Given the description of an element on the screen output the (x, y) to click on. 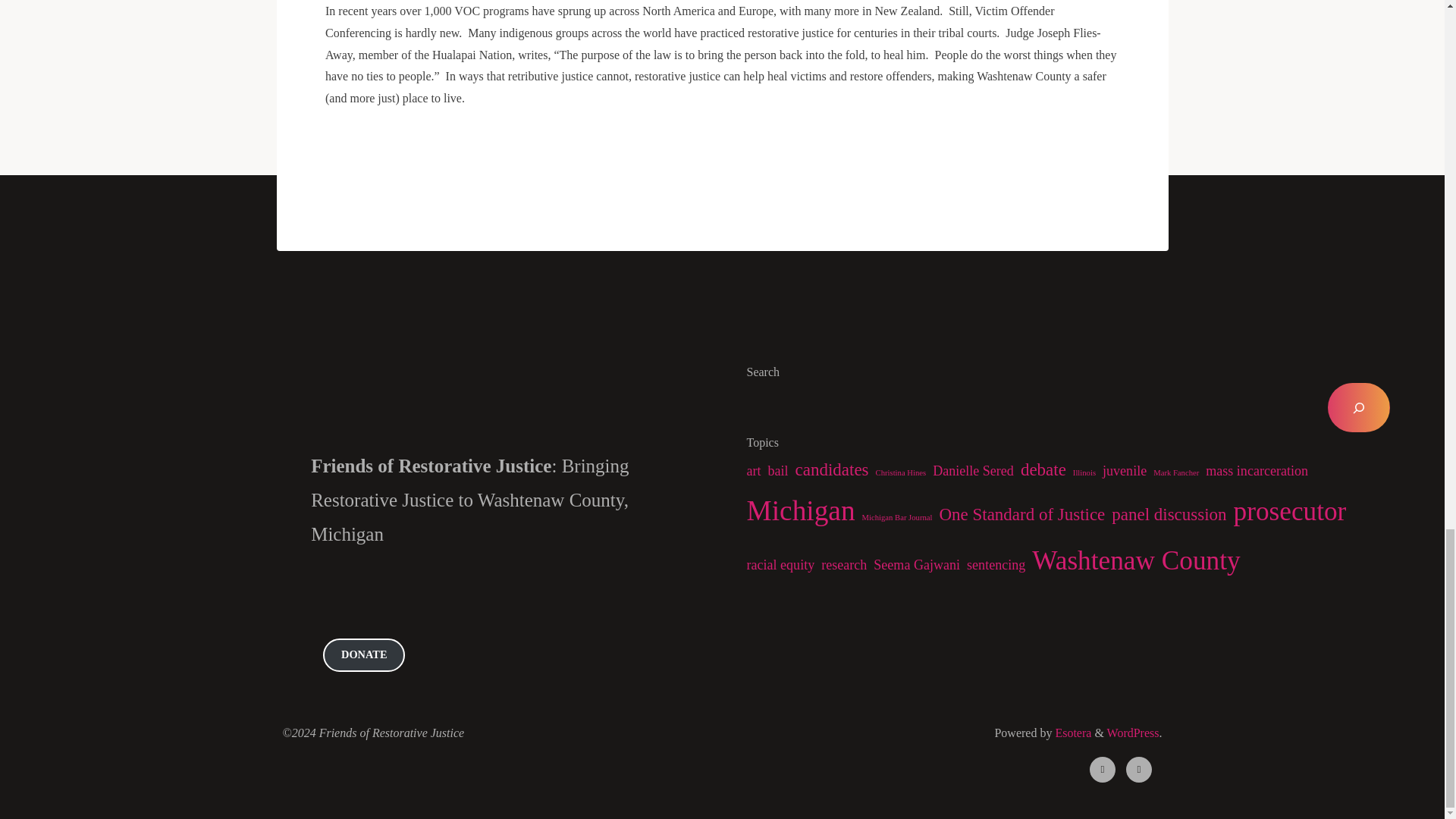
Facebook (1102, 769)
Semantic Personal Publishing Platform (1132, 732)
Esotera WordPress Theme by Cryout Creations (1070, 732)
YouTube (1139, 769)
